Given the description of an element on the screen output the (x, y) to click on. 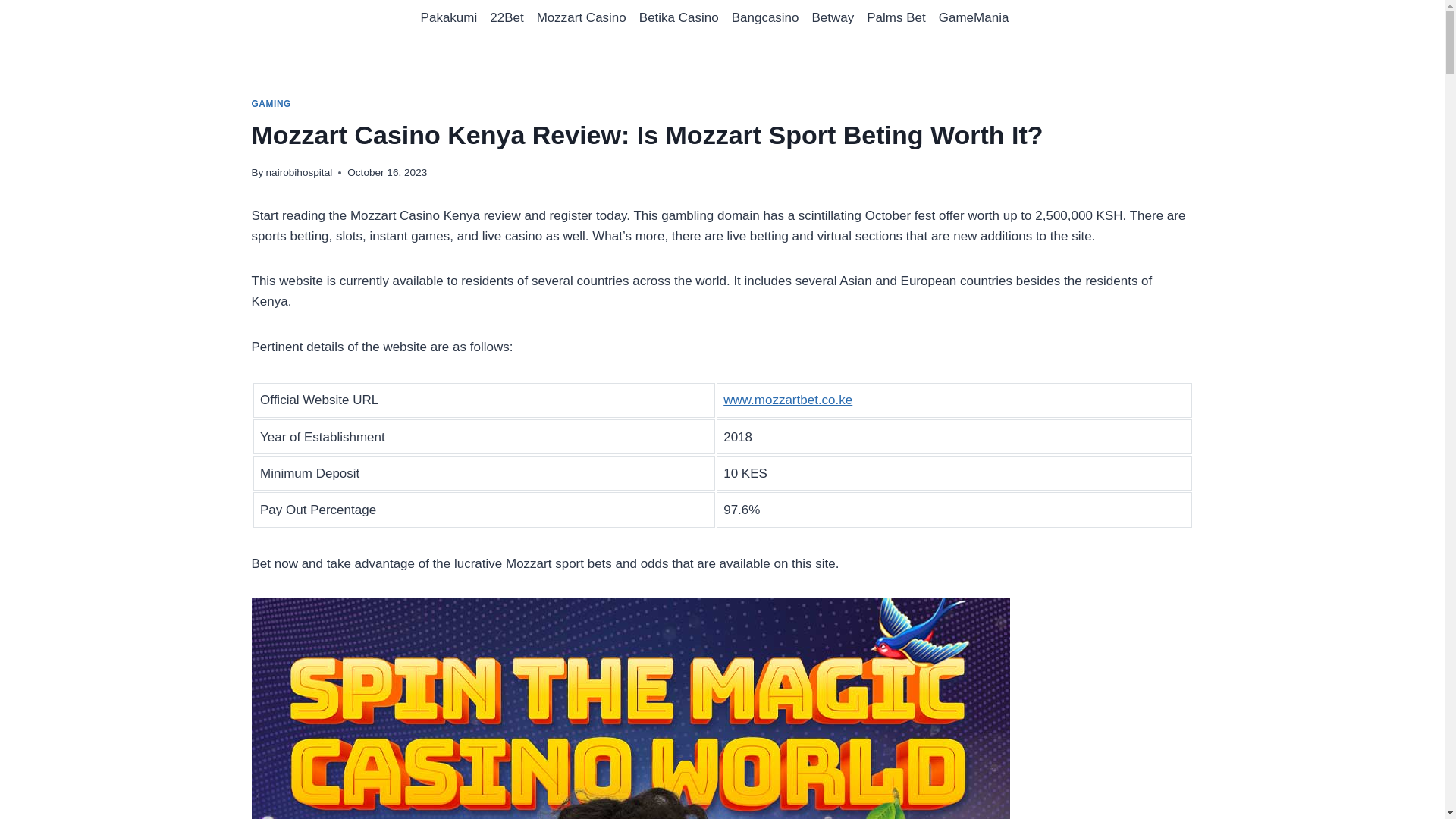
Palms Bet (895, 18)
Betway (832, 18)
GameMania (972, 18)
www.mozzartbet.co.ke (787, 400)
nairobihospital (299, 172)
Pakakumi (448, 18)
22Bet (506, 18)
GAMING (271, 103)
Bangcasino (765, 18)
Betika Casino (678, 18)
